Given the description of an element on the screen output the (x, y) to click on. 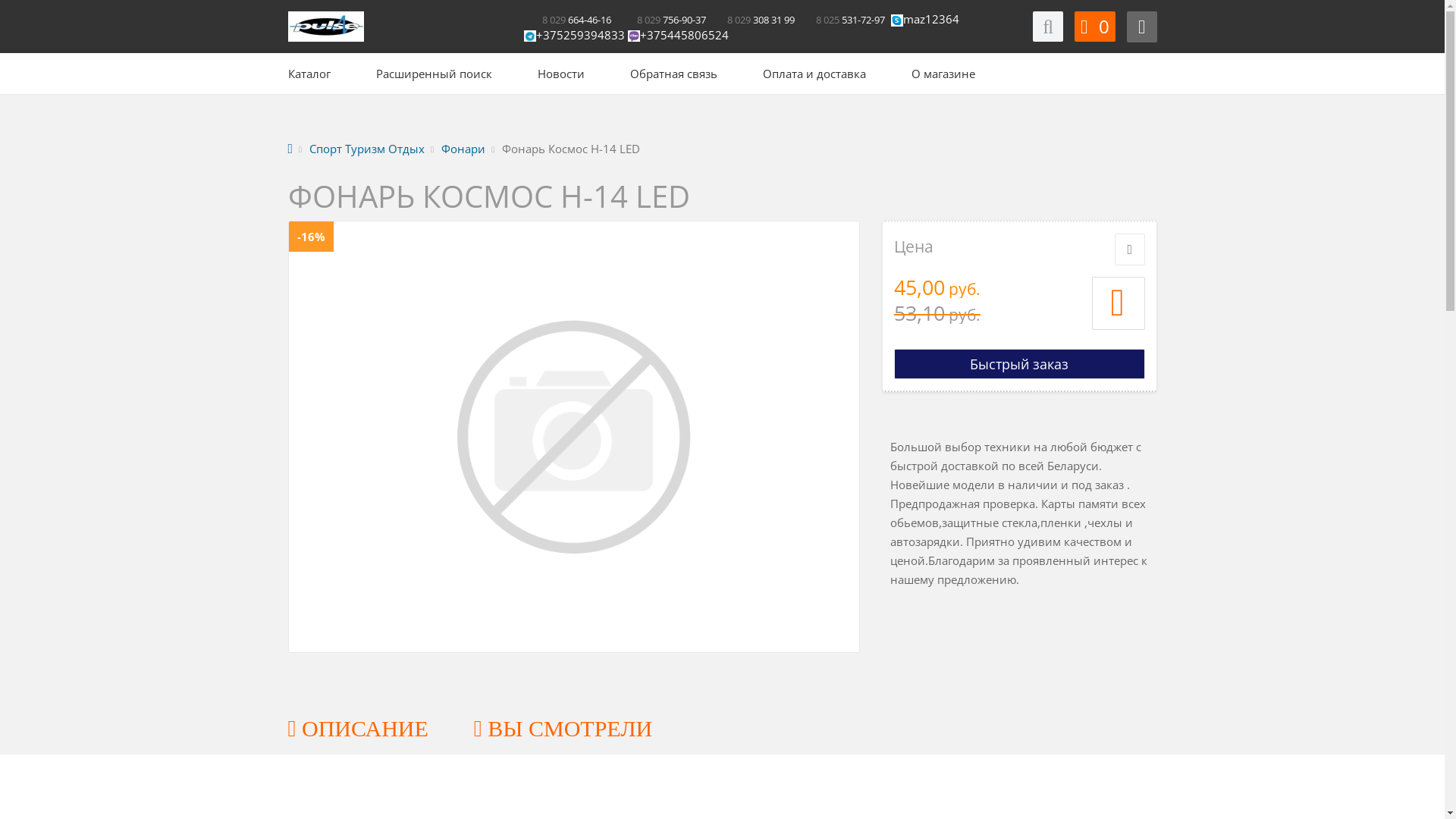
8 029 308 31 99 Element type: text (750, 18)
8 025 531-72-97 Element type: text (842, 18)
+375445806524 Element type: text (677, 34)
8 029 664-46-16   Element type: text (569, 18)
maz12364  Element type: text (931, 18)
0 Element type: text (1094, 26)
8 029 756-90-37 Element type: text (662, 18)
